Given the description of an element on the screen output the (x, y) to click on. 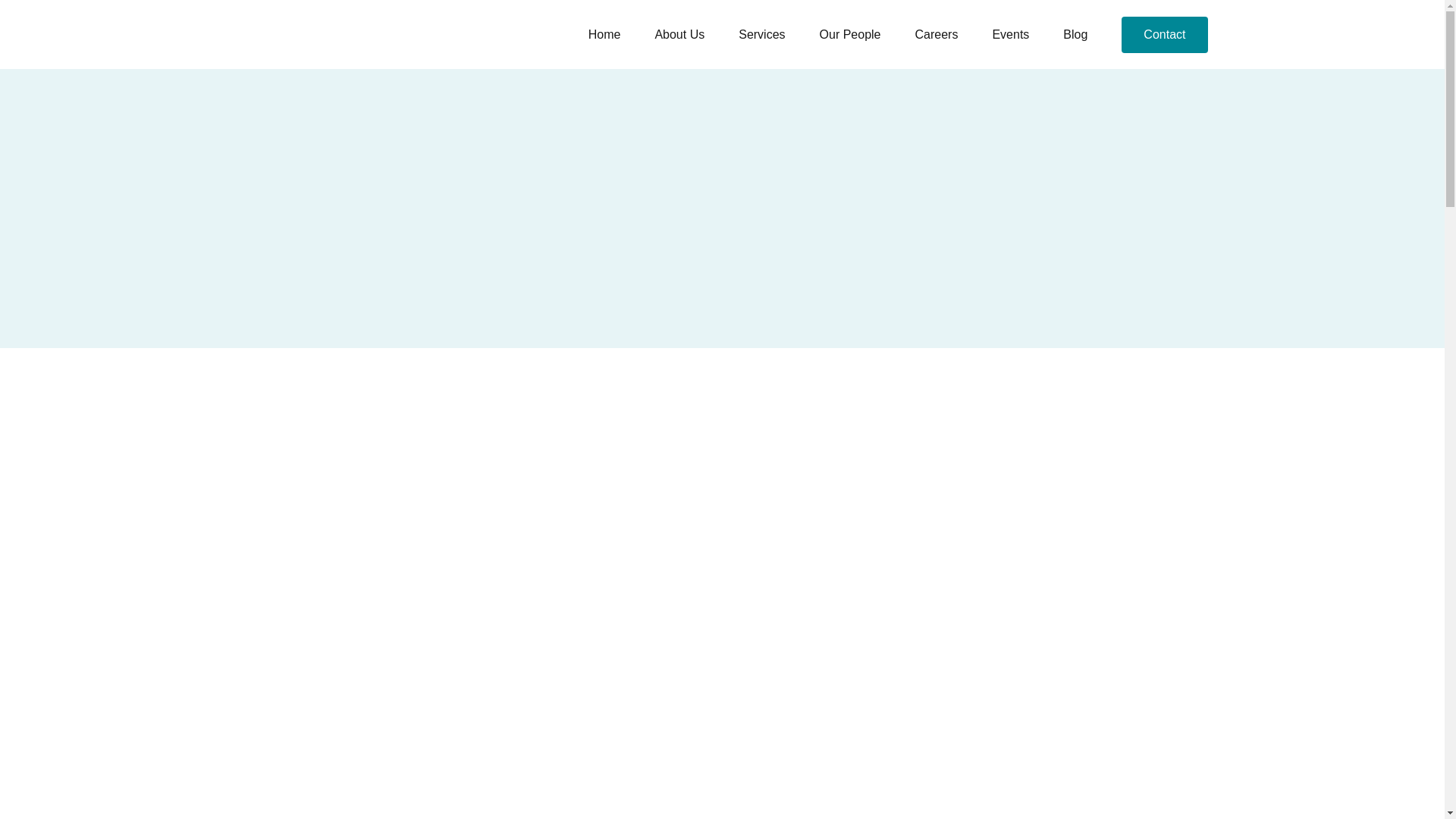
Contact (1164, 34)
Services (761, 34)
About Us (678, 34)
Careers (936, 34)
open (678, 34)
Events (1010, 34)
Our People (849, 34)
Home (604, 34)
